Given the description of an element on the screen output the (x, y) to click on. 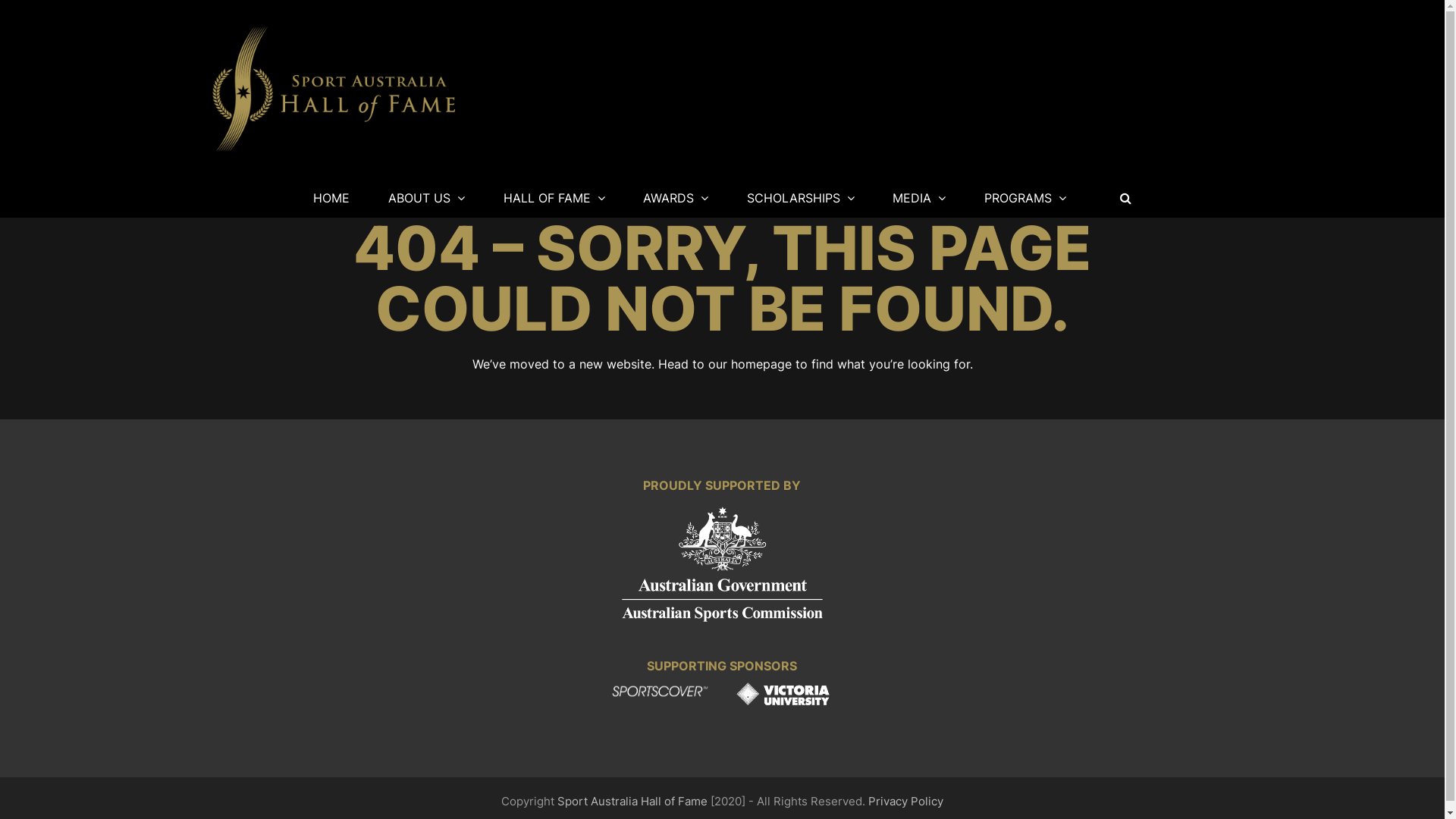
Privacy Policy Element type: text (905, 801)
HOME Element type: text (331, 197)
PROGRAMS Element type: text (1024, 197)
AWARDS Element type: text (675, 197)
MEDIA Element type: text (919, 197)
SCHOLARSHIPS Element type: text (800, 197)
HALL OF FAME Element type: text (554, 197)
Sport Australia Hall of Fame Element type: text (632, 801)
ABOUT US Element type: text (426, 197)
